Given the description of an element on the screen output the (x, y) to click on. 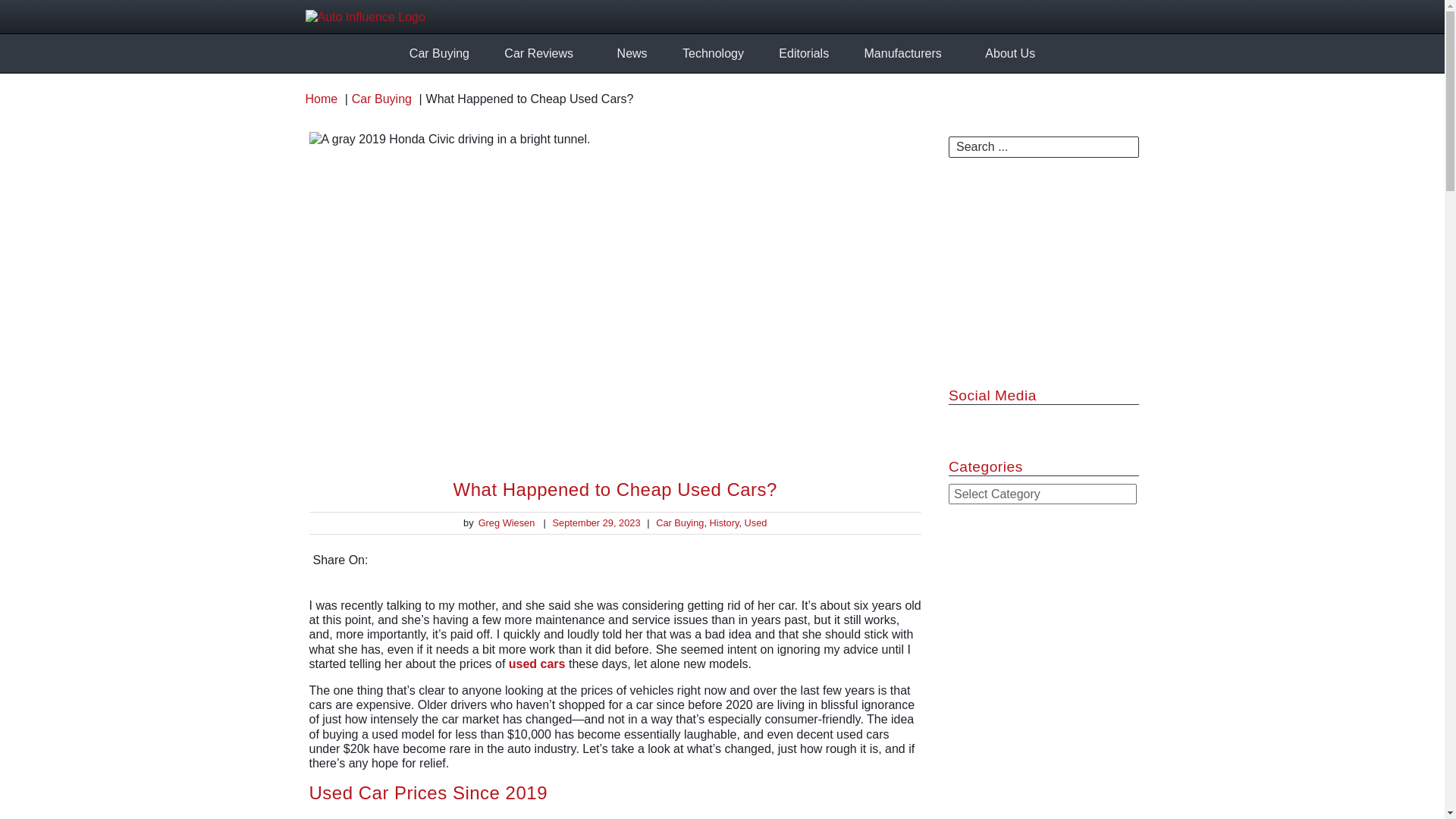
Share On Reddit (841, 558)
Technology (713, 53)
Share On LinkedIn (811, 558)
Twitter - AutoInfluence (1123, 15)
Share To Email (901, 558)
Facebook - AutoInfluence (1093, 15)
Car Reviews (538, 53)
AutoInfluence (429, 15)
Manufacturers (902, 53)
Share On Pinterest (871, 558)
